Given the description of an element on the screen output the (x, y) to click on. 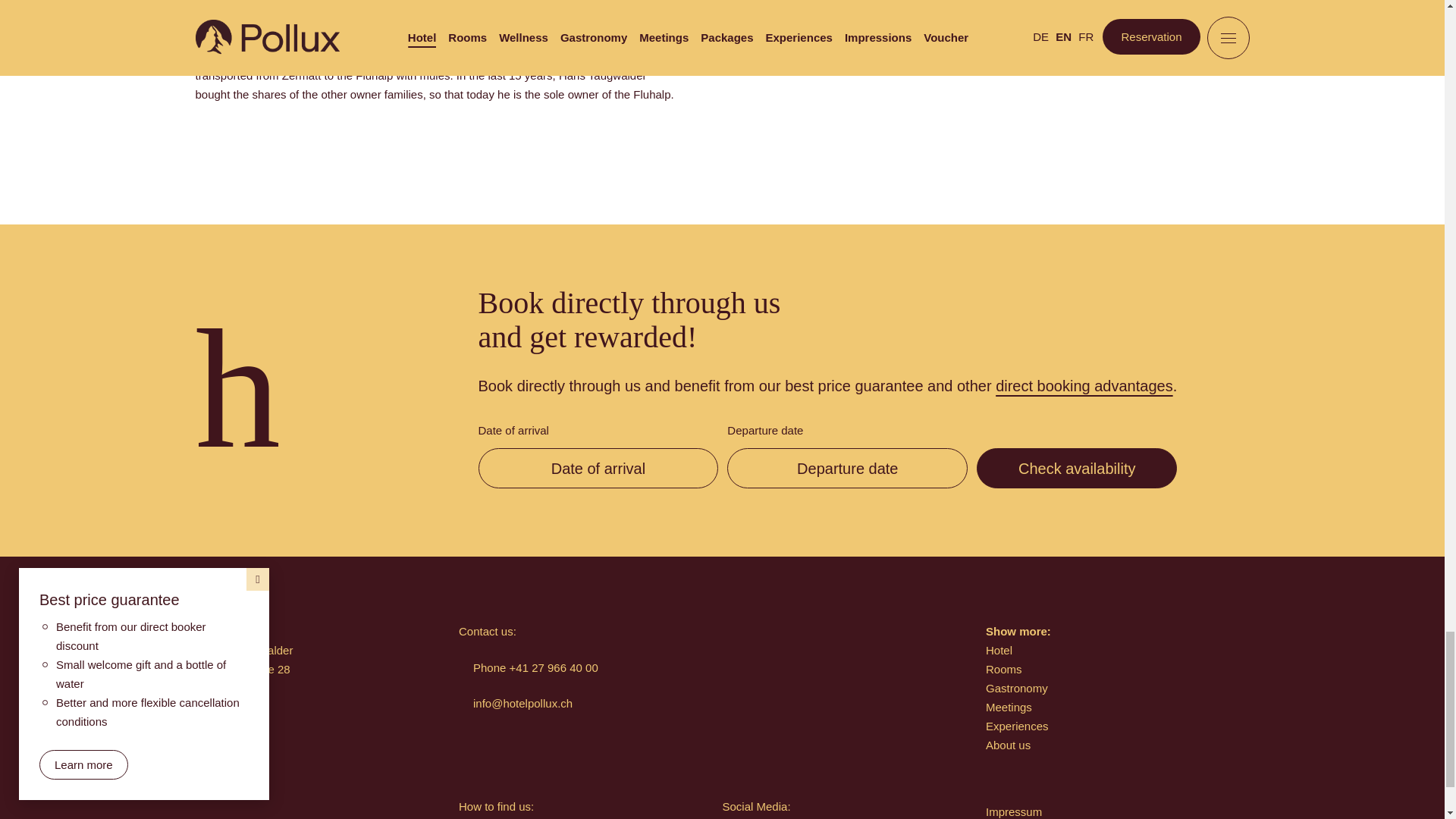
Check availability (1076, 467)
